Given the description of an element on the screen output the (x, y) to click on. 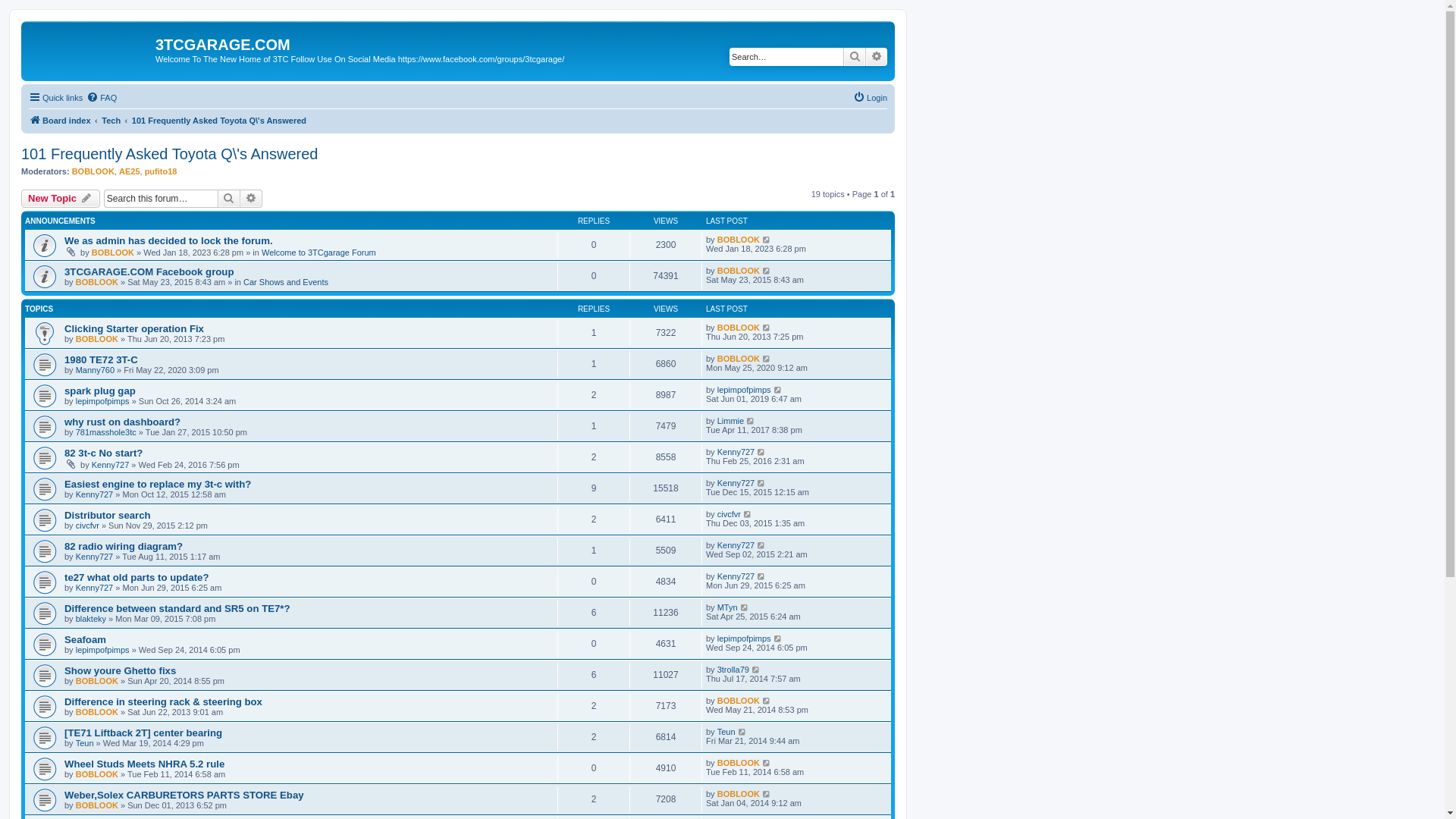
BOBLOOK Element type: text (738, 358)
101 Frequently Asked Toyota Q\'s Answered Element type: text (169, 154)
lepimpofpimps Element type: text (744, 638)
Go to last post Element type: hover (761, 575)
We as admin has decided to lock the forum. Element type: text (168, 240)
BOBLOOK Element type: text (96, 711)
Go to last post Element type: hover (742, 731)
civcfvr Element type: text (728, 513)
Quick links Element type: text (55, 97)
[TE71 Liftback 2T] center bearing Element type: text (143, 732)
pufito18 Element type: text (160, 170)
Go to last post Element type: hover (766, 793)
Kenny727 Element type: text (736, 482)
Advanced search Element type: text (251, 198)
BOBLOOK Element type: text (738, 270)
BOBLOOK Element type: text (738, 700)
Limmie Element type: text (730, 420)
Clicking Starter operation Fix Element type: text (133, 328)
Kenny727 Element type: text (94, 556)
Go to last post Element type: hover (744, 606)
BOBLOOK Element type: text (738, 327)
Go to last post Element type: hover (766, 700)
Kenny727 Element type: text (94, 587)
Easiest engine to replace my 3t-c with? Element type: text (157, 483)
BOBLOOK Element type: text (93, 170)
Kenny727 Element type: text (94, 493)
Go to last post Element type: hover (778, 638)
Board index Element type: hover (90, 49)
Go to last post Element type: hover (766, 270)
Kenny727 Element type: text (736, 575)
781masshole3tc Element type: text (105, 431)
why rust on dashboard? Element type: text (122, 421)
Show youre Ghetto fixs Element type: text (119, 670)
Welcome to 3TCgarage Forum Element type: text (318, 252)
Teun Element type: text (726, 731)
BOBLOOK Element type: text (738, 793)
AE25 Element type: text (129, 170)
Go to last post Element type: hover (766, 358)
82 radio wiring diagram? Element type: text (123, 546)
blakteky Element type: text (90, 618)
Kenny727 Element type: text (110, 464)
Login Element type: text (870, 97)
Go to last post Element type: hover (761, 482)
Go to last post Element type: hover (778, 389)
Tech Element type: text (110, 120)
BOBLOOK Element type: text (112, 252)
BOBLOOK Element type: text (96, 338)
101 Frequently Asked Toyota Q\'s Answered Element type: text (218, 120)
civcfvr Element type: text (87, 525)
FAQ Element type: text (101, 97)
BOBLOOK Element type: text (96, 281)
Search for keywords Element type: hover (786, 56)
Difference between standard and SR5 on TE7*? Element type: text (177, 608)
Distributor search Element type: text (107, 514)
spark plug gap Element type: text (99, 390)
lepimpofpimps Element type: text (102, 400)
Search Element type: text (228, 198)
Kenny727 Element type: text (736, 544)
lepimpofpimps Element type: text (102, 649)
Board index Element type: text (59, 120)
Difference in steering rack & steering box Element type: text (163, 701)
te27 what old parts to update? Element type: text (136, 577)
Car Shows and Events Element type: text (285, 281)
Go to last post Element type: hover (766, 239)
1980 TE72 3T-C Element type: text (101, 359)
BOBLOOK Element type: text (738, 239)
MTyn Element type: text (727, 606)
lepimpofpimps Element type: text (744, 389)
Search Element type: text (854, 56)
Teun Element type: text (84, 742)
Kenny727 Element type: text (736, 451)
3trolla79 Element type: text (733, 669)
Go to last post Element type: hover (751, 420)
BOBLOOK Element type: text (96, 773)
Seafoam Element type: text (85, 639)
Weber,Solex CARBURETORS PARTS STORE Ebay Element type: text (184, 794)
Go to last post Element type: hover (766, 327)
3TCGARAGE.COM Facebook group Element type: text (148, 271)
BOBLOOK Element type: text (738, 762)
Go to last post Element type: hover (748, 513)
BOBLOOK Element type: text (96, 680)
Go to last post Element type: hover (766, 762)
New Topic Element type: text (60, 198)
82 3t-c No start? Element type: text (103, 452)
Advanced search Element type: text (876, 56)
Wheel Studs Meets NHRA 5.2 rule Element type: text (144, 763)
Manny760 Element type: text (94, 369)
Go to last post Element type: hover (761, 451)
BOBLOOK Element type: text (96, 804)
Go to last post Element type: hover (761, 544)
Go to last post Element type: hover (756, 669)
